Given the description of an element on the screen output the (x, y) to click on. 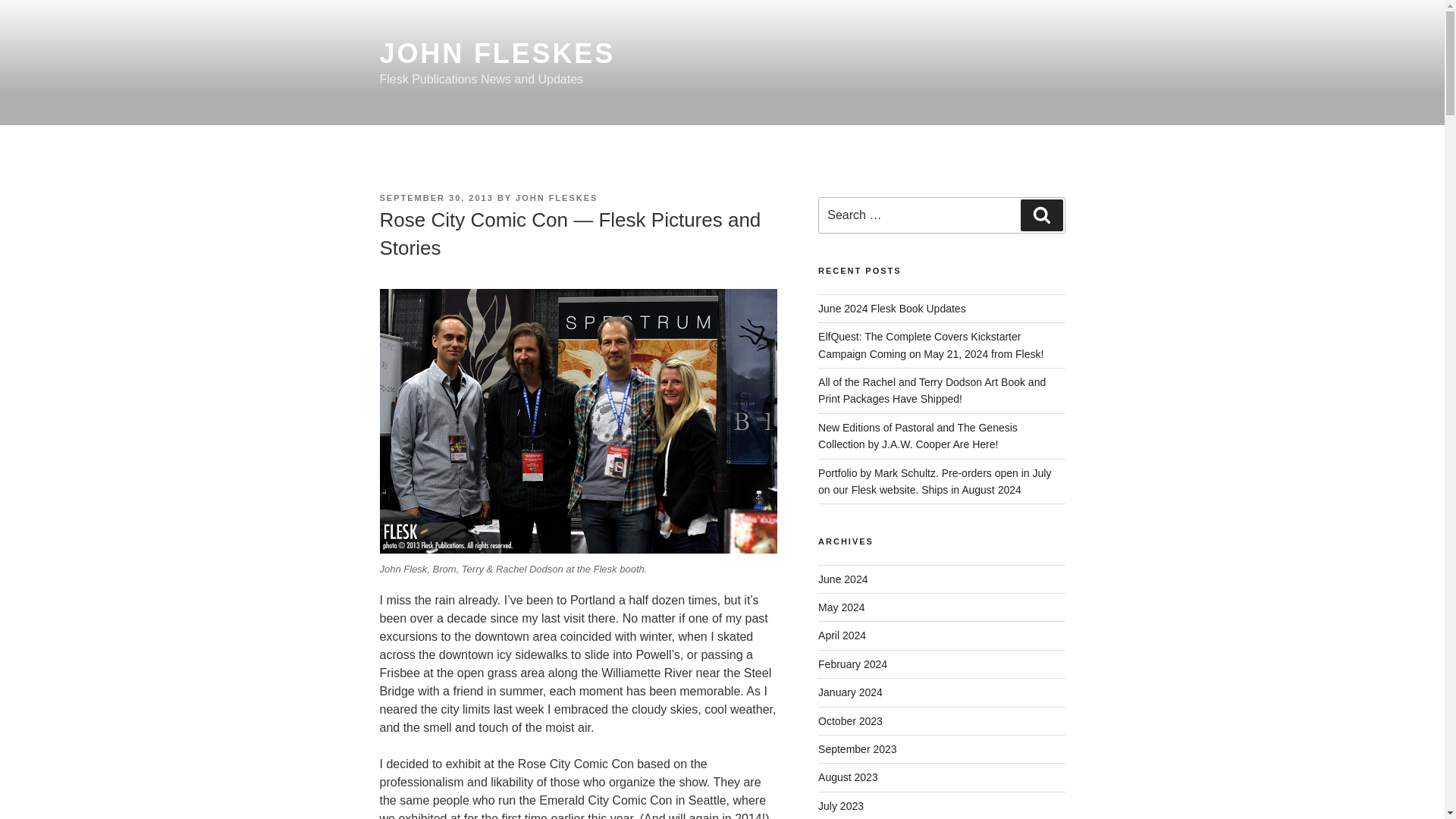
May 2024 (841, 607)
JOHN FLESKES (555, 197)
February 2024 (852, 664)
September 2023 (857, 748)
SEPTEMBER 30, 2013 (435, 197)
July 2023 (840, 806)
August 2023 (847, 776)
June 2024 (842, 579)
October 2023 (850, 720)
